Given the description of an element on the screen output the (x, y) to click on. 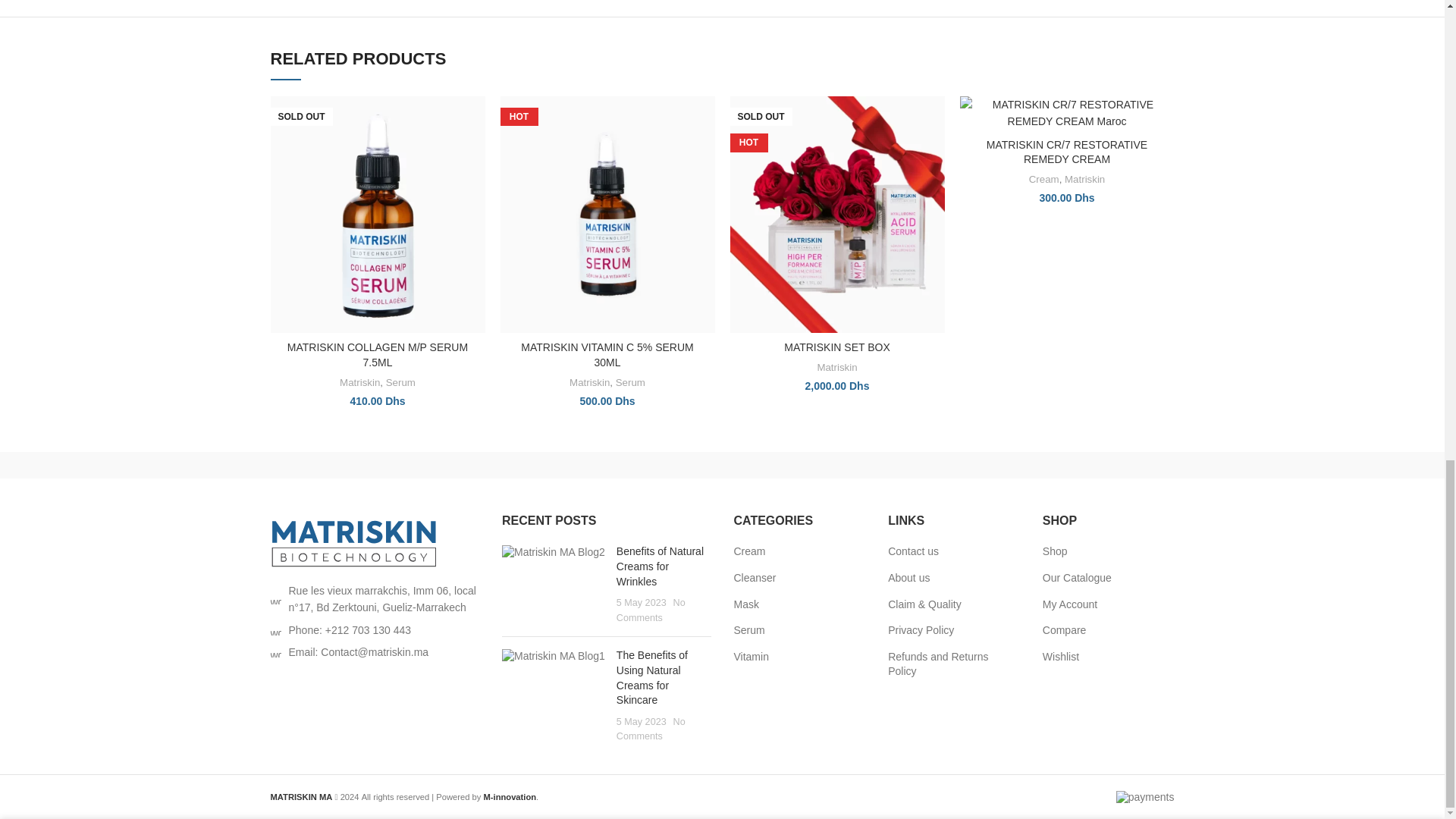
wd-envelope-dark (275, 652)
wd-phone-dark (275, 629)
Matreskin-Maroc-logo-b1 (352, 543)
Matriskin MA Blog1 (553, 656)
Matriskin MA Blog2 (553, 552)
wd-cursor-dark (275, 598)
Permalink to Benefits of Natural Creams for Wrinkles (659, 566)
